Given the description of an element on the screen output the (x, y) to click on. 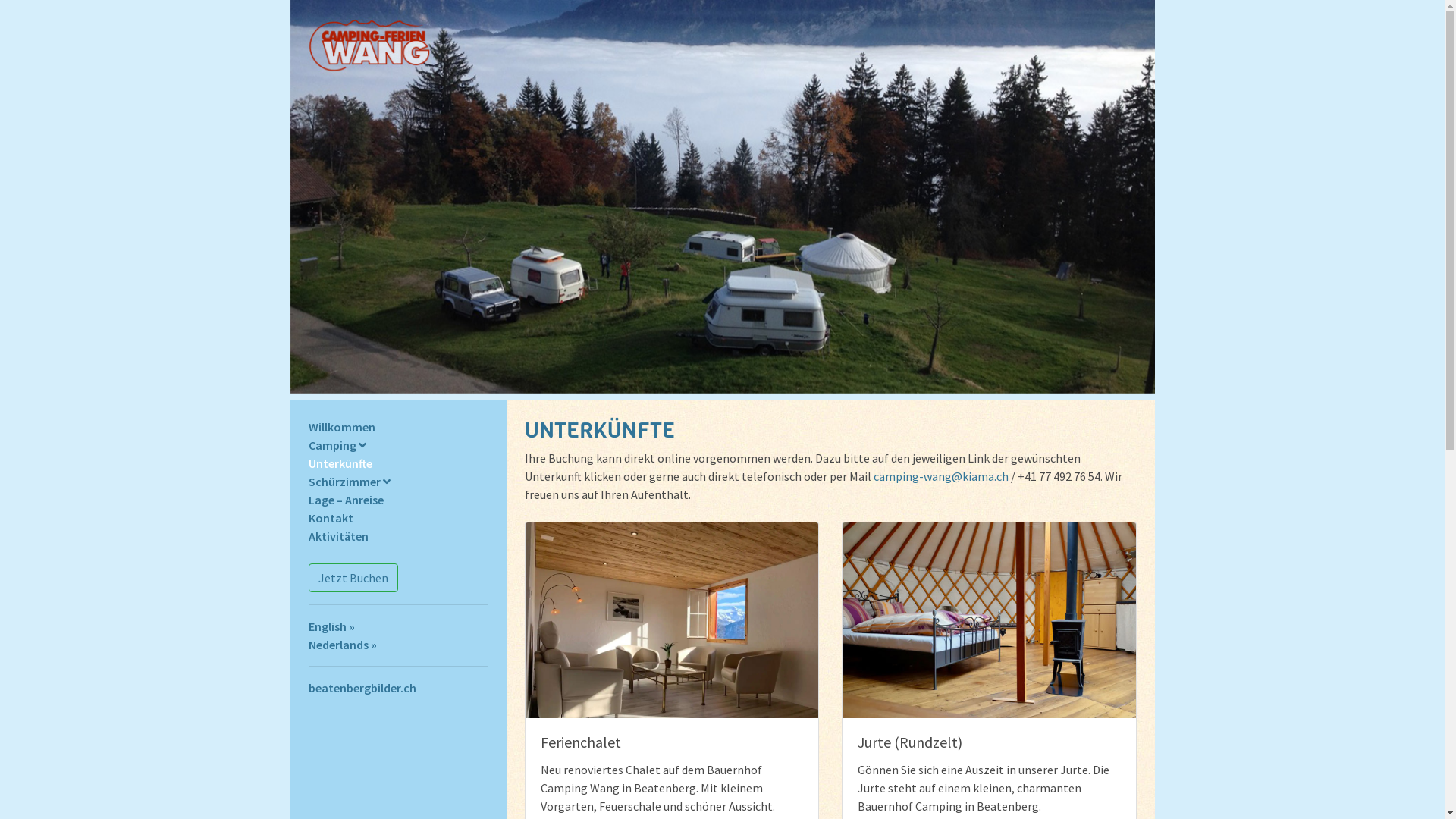
Willkommen Element type: text (340, 426)
camping-wang@kiama.ch Element type: text (940, 475)
Jetzt Buchen Element type: text (352, 577)
Kontakt Element type: text (329, 517)
beatenbergbilder.ch Element type: text (361, 687)
Camping  Element type: text (336, 444)
